Given the description of an element on the screen output the (x, y) to click on. 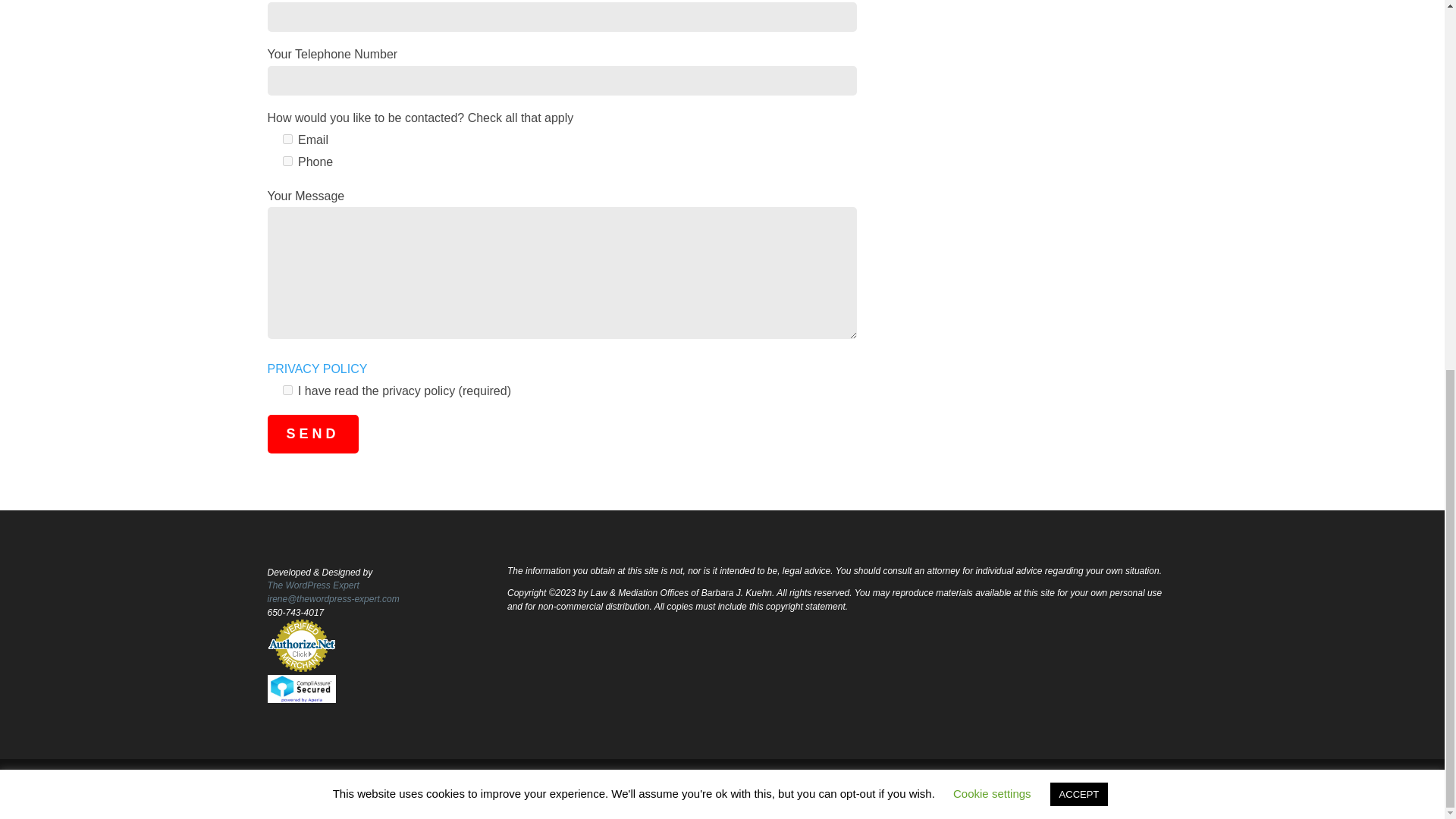
Cookie settings (991, 121)
Privacy Policy (302, 780)
Send (312, 433)
ACCEPT (1078, 122)
The WordPress Expert (312, 584)
PRIVACY POLICY (316, 368)
Send (312, 433)
Email (287, 139)
Phone (287, 161)
